Given the description of an element on the screen output the (x, y) to click on. 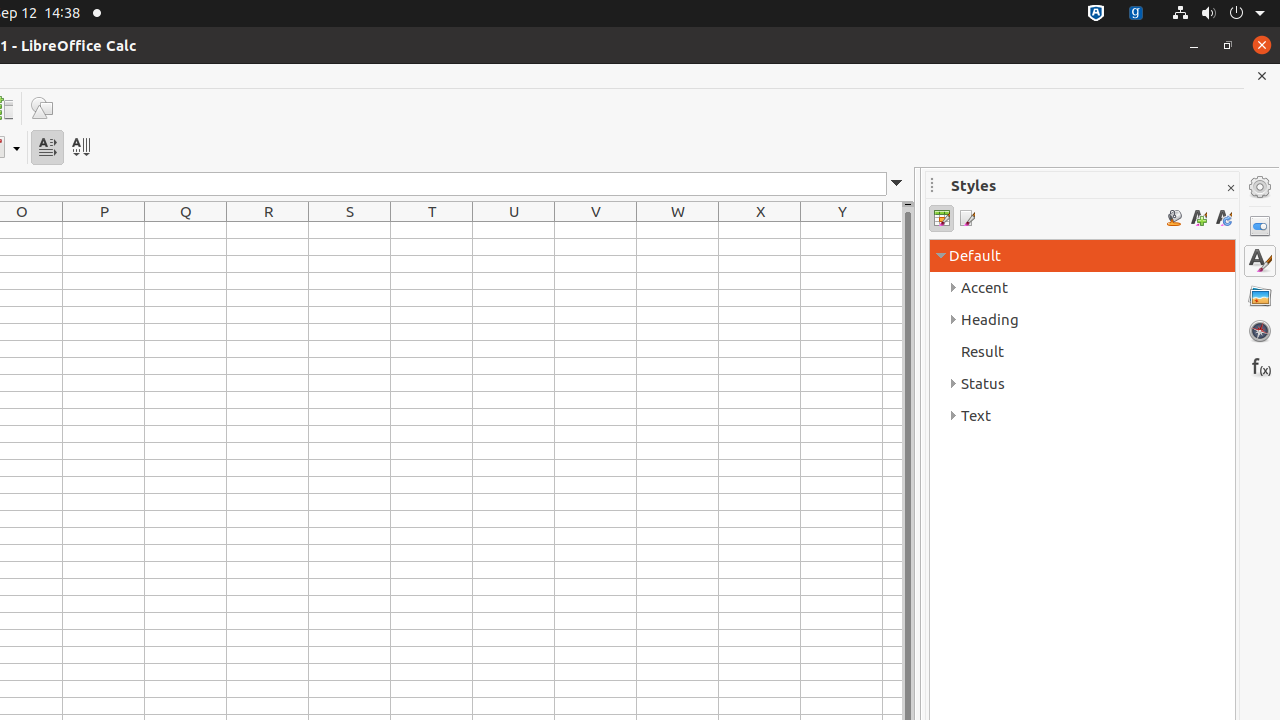
Page Styles Element type: push-button (966, 218)
Close Sidebar Deck Element type: push-button (1230, 188)
U1 Element type: table-cell (514, 230)
Styles Element type: radio-button (1260, 261)
:1.21/StatusNotifierItem Element type: menu (1136, 13)
